Given the description of an element on the screen output the (x, y) to click on. 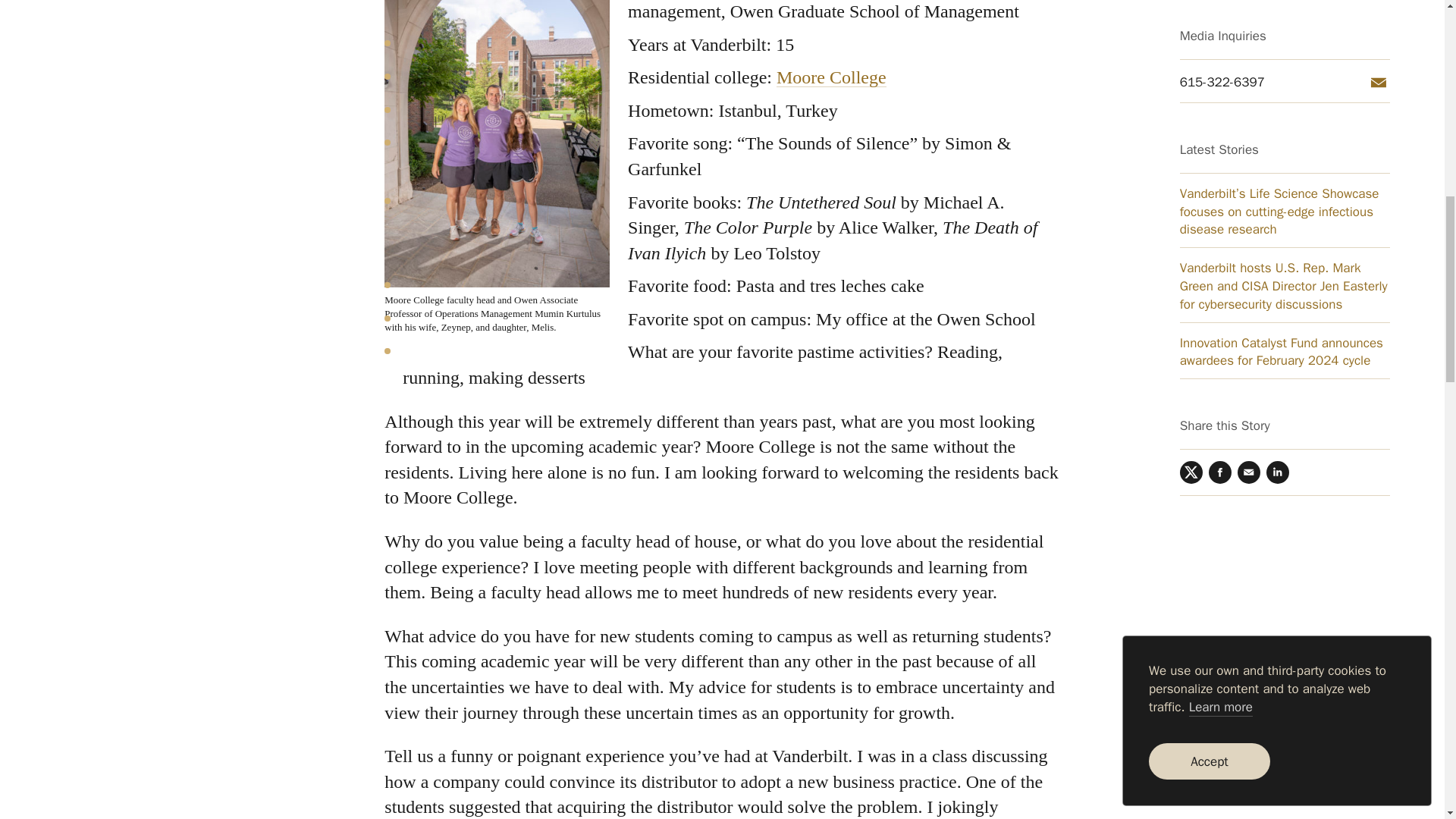
Facebook (1219, 105)
LinkedIn (1277, 105)
Email (1248, 105)
Twitter (1190, 105)
Moore College (831, 76)
